Given the description of an element on the screen output the (x, y) to click on. 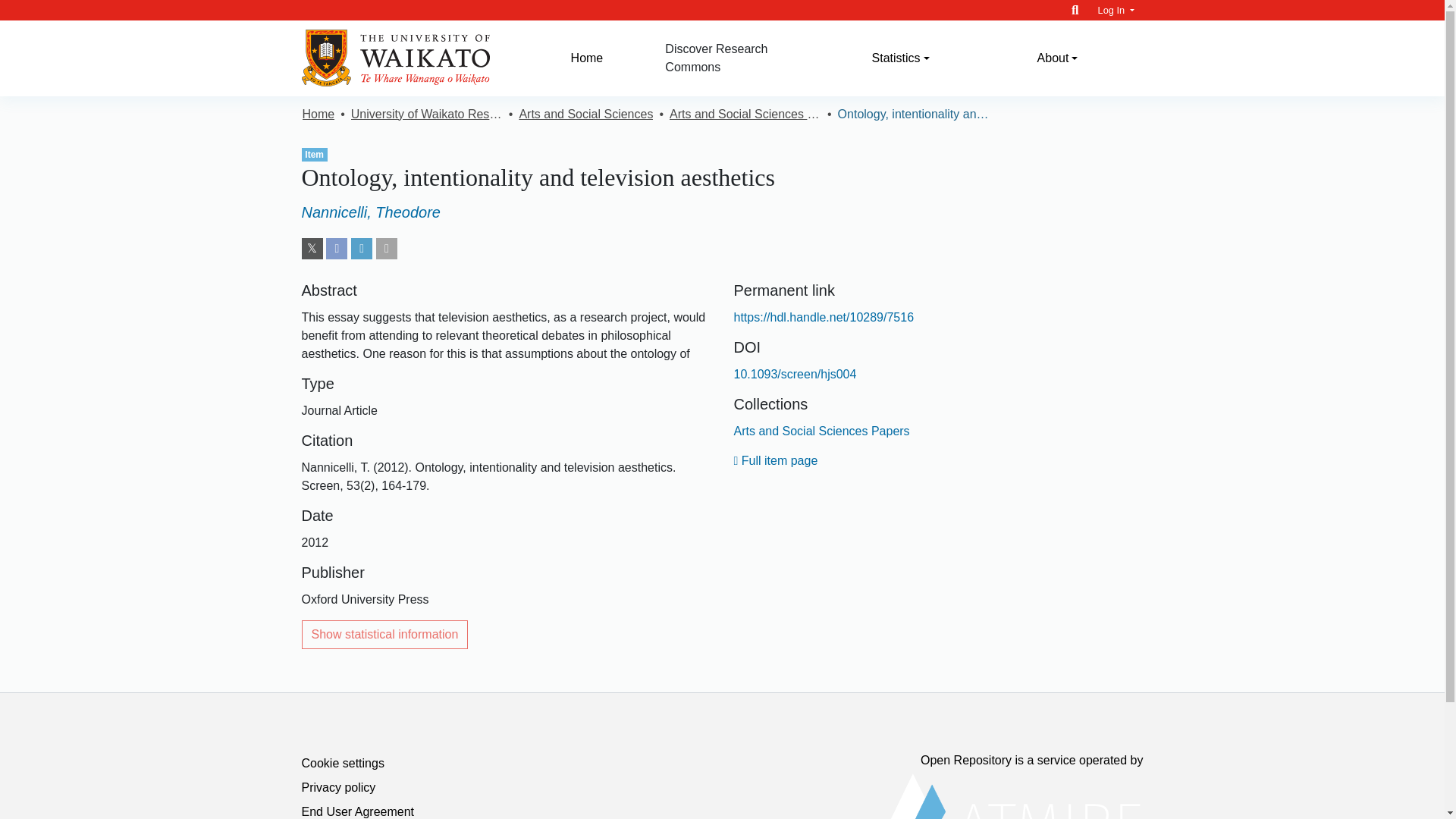
Home (586, 58)
End User Agreement (357, 811)
Statistics (900, 58)
Nannicelli, Theodore (371, 211)
Arts and Social Sciences (585, 114)
Show statistical information (384, 634)
Search (1075, 10)
Arts and Social Sciences Papers (821, 431)
Privacy policy (338, 787)
About (1056, 58)
Home (317, 114)
Home (586, 58)
Cookie settings (342, 762)
Arts and Social Sciences Papers (745, 114)
University of Waikato Research (426, 114)
